Given the description of an element on the screen output the (x, y) to click on. 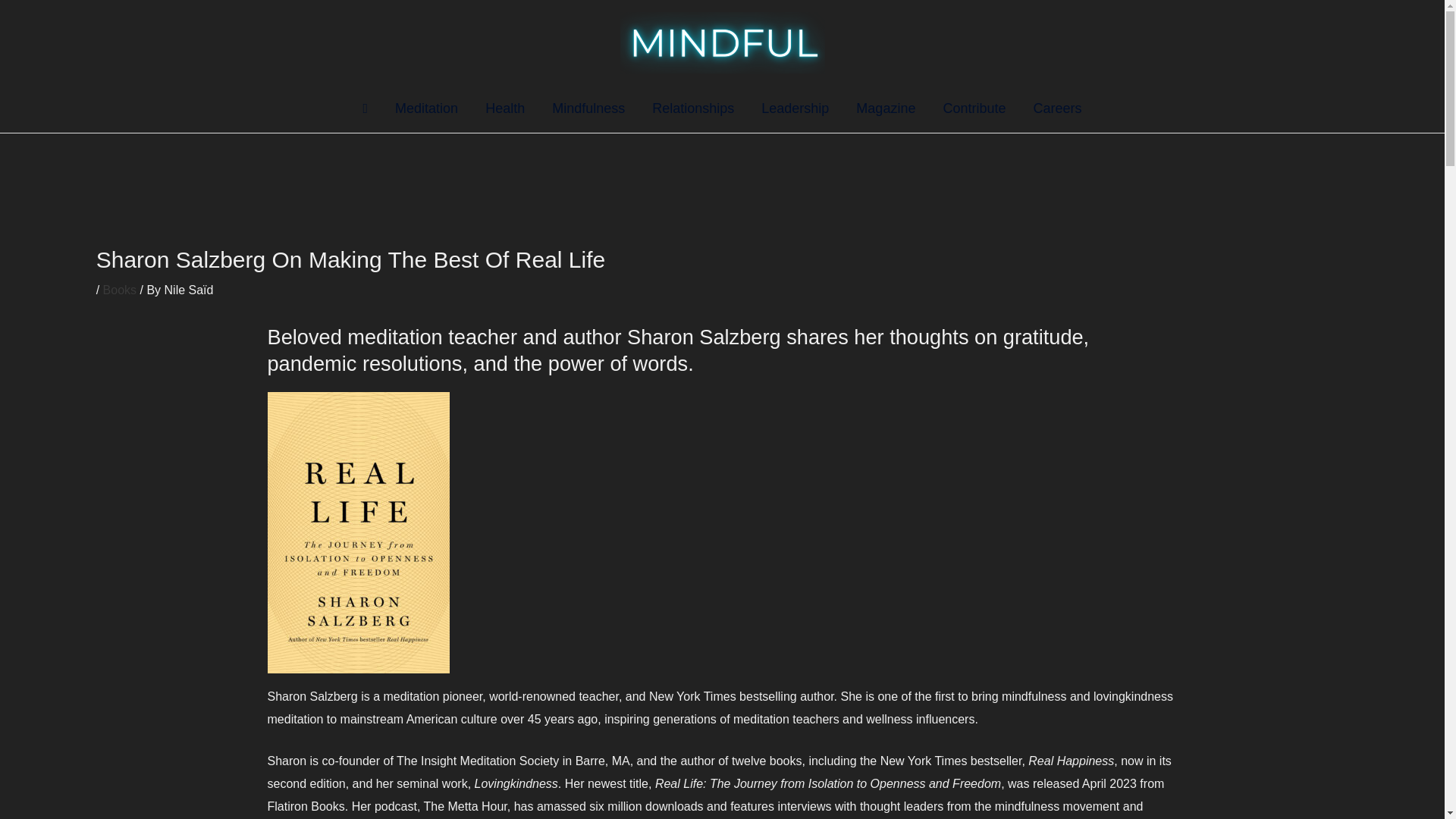
Books (119, 289)
